Given the description of an element on the screen output the (x, y) to click on. 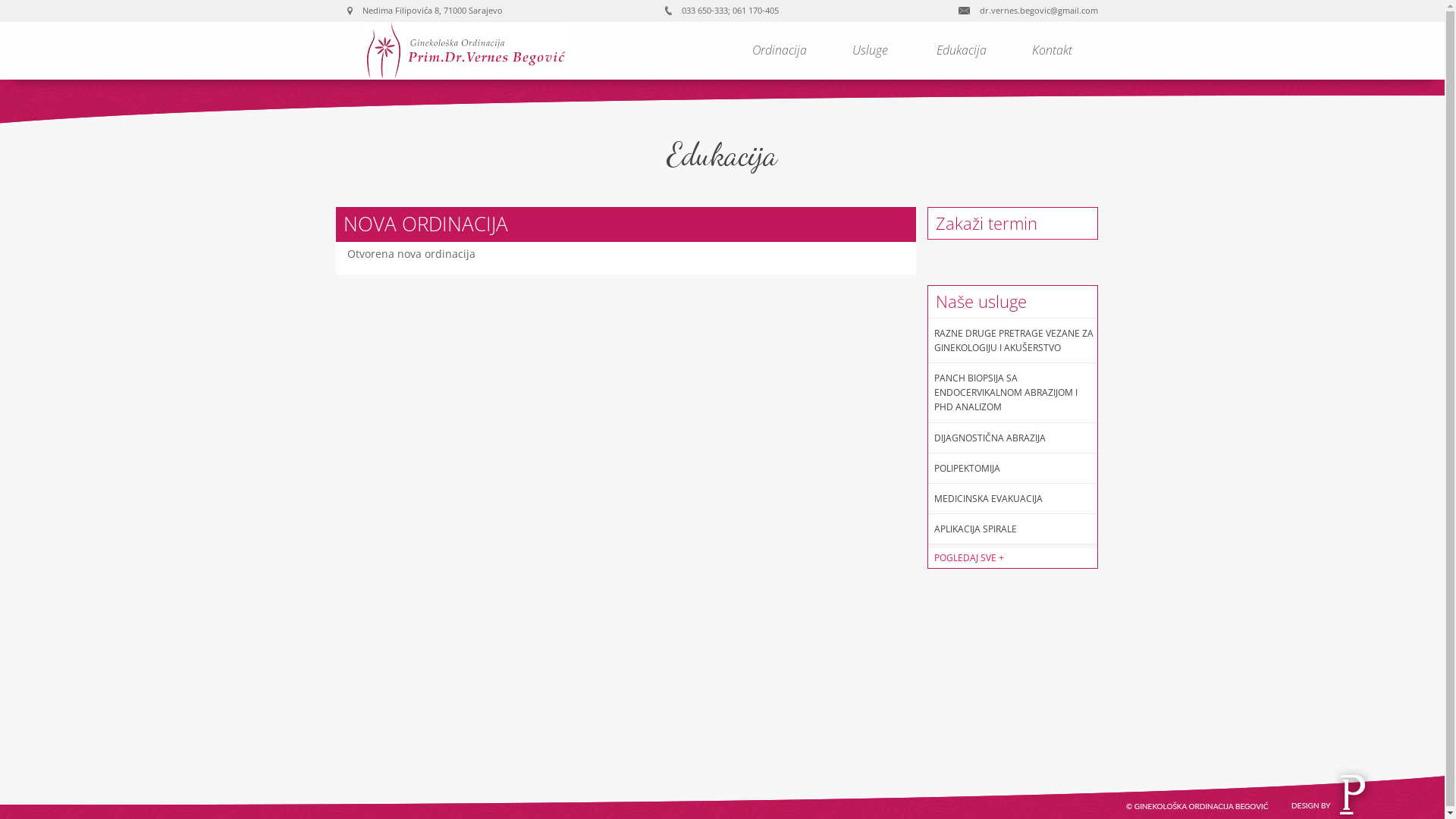
POLIPEKTOMIJA Element type: text (967, 467)
PANCH BIOPSIJA SA ENDOCERVIKALNOM ABRAZIJOM I PHD ANALIZOM Element type: text (1005, 392)
Kontakt Element type: text (1052, 49)
Ordinacija Element type: text (779, 49)
Edukacija Element type: text (961, 49)
POGLEDAJ SVE + Element type: text (1012, 557)
APLIKACIJA SPIRALE Element type: text (975, 528)
MEDICINSKA EVAKUACIJA Element type: text (988, 498)
Usluge Element type: text (870, 49)
